Given the description of an element on the screen output the (x, y) to click on. 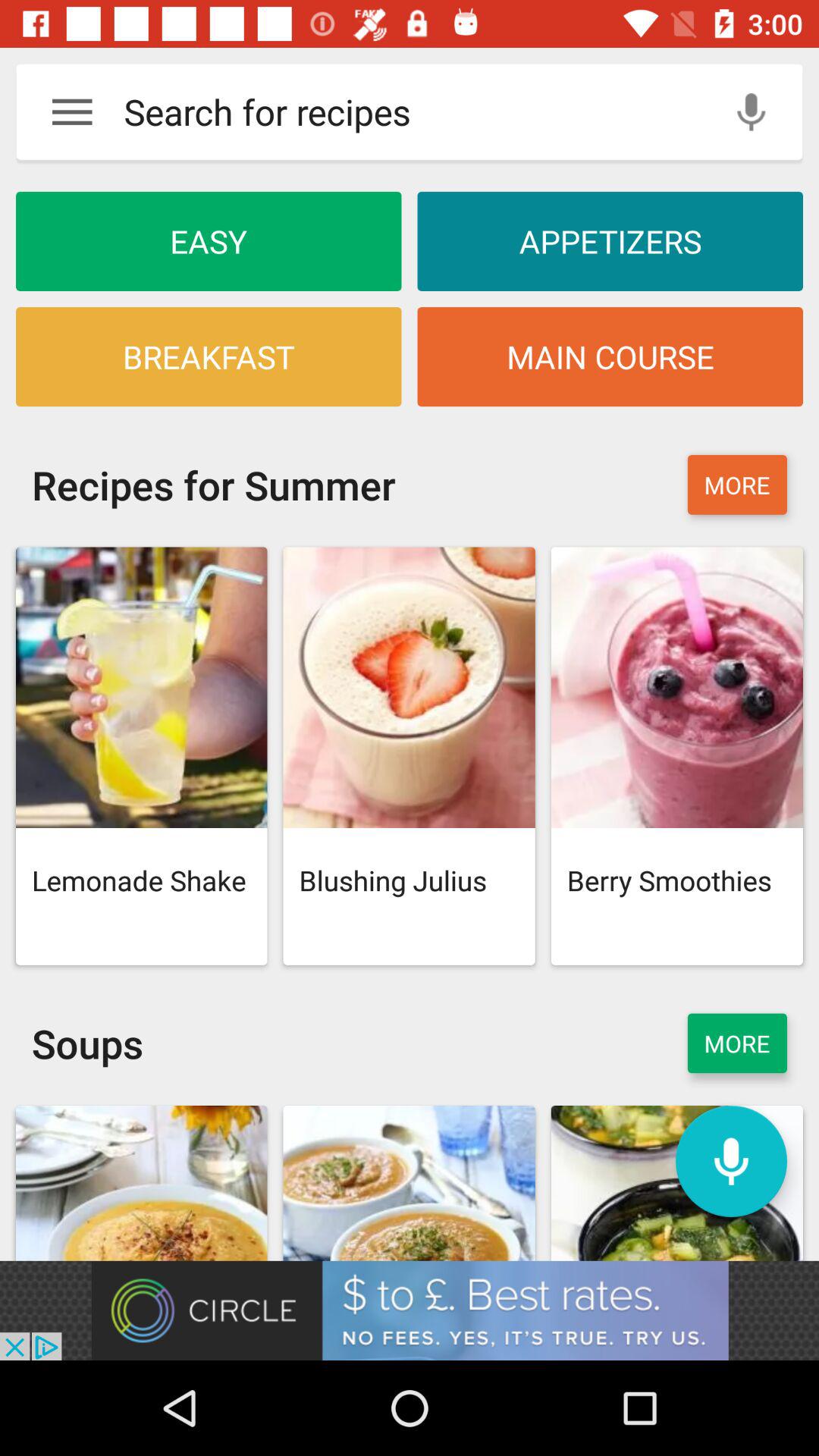
circle to .best rates no fees yes it 's true try us (409, 1310)
